Given the description of an element on the screen output the (x, y) to click on. 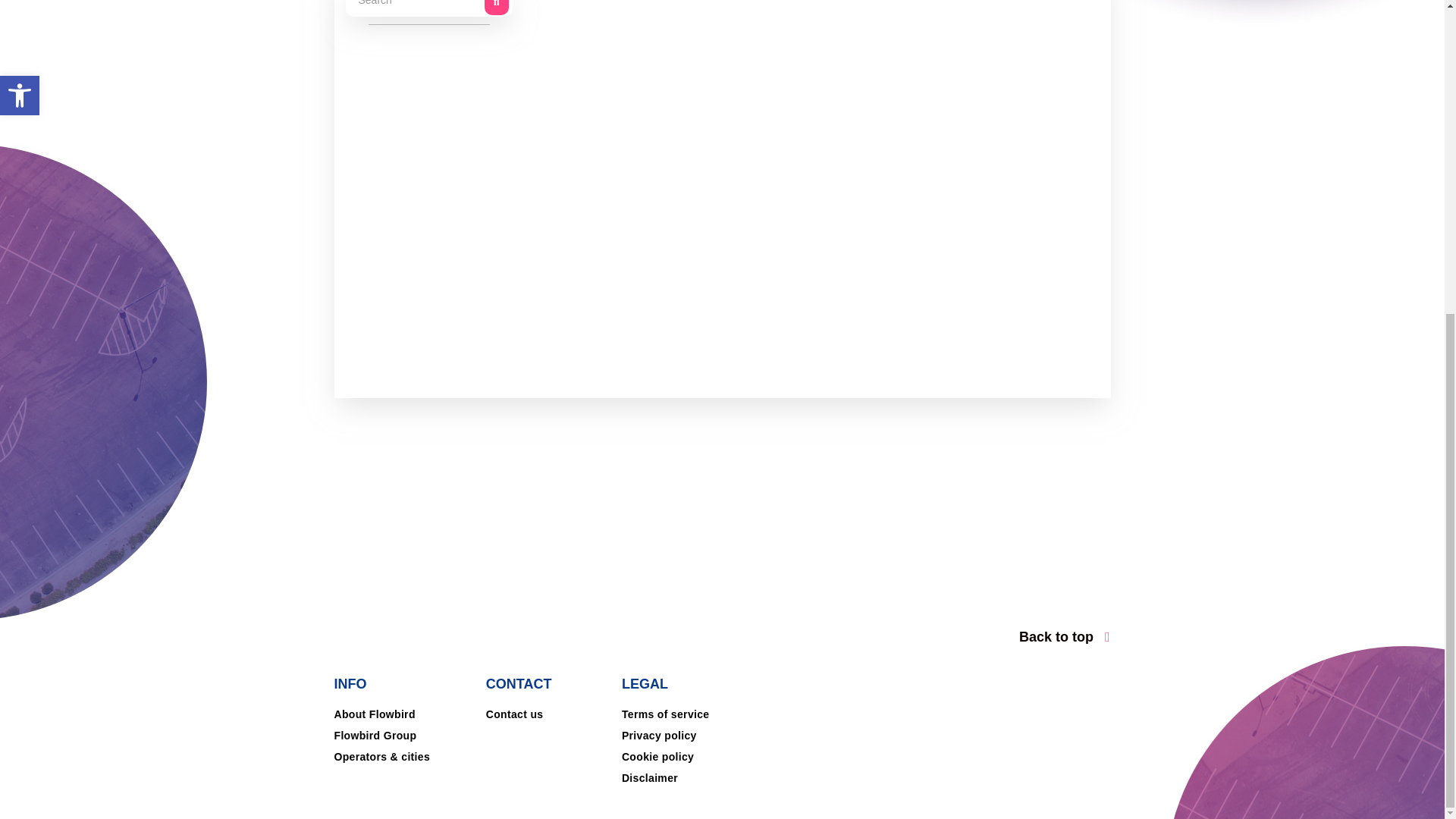
Cookie policy (657, 756)
Contact us (514, 714)
Back to top (1063, 636)
Terms of service (665, 714)
Flowbird Group (374, 735)
About Flowbird (373, 714)
Disclaimer (649, 777)
Privacy policy (659, 735)
Back to top (919, 634)
Back to top (1063, 636)
